Given the description of an element on the screen output the (x, y) to click on. 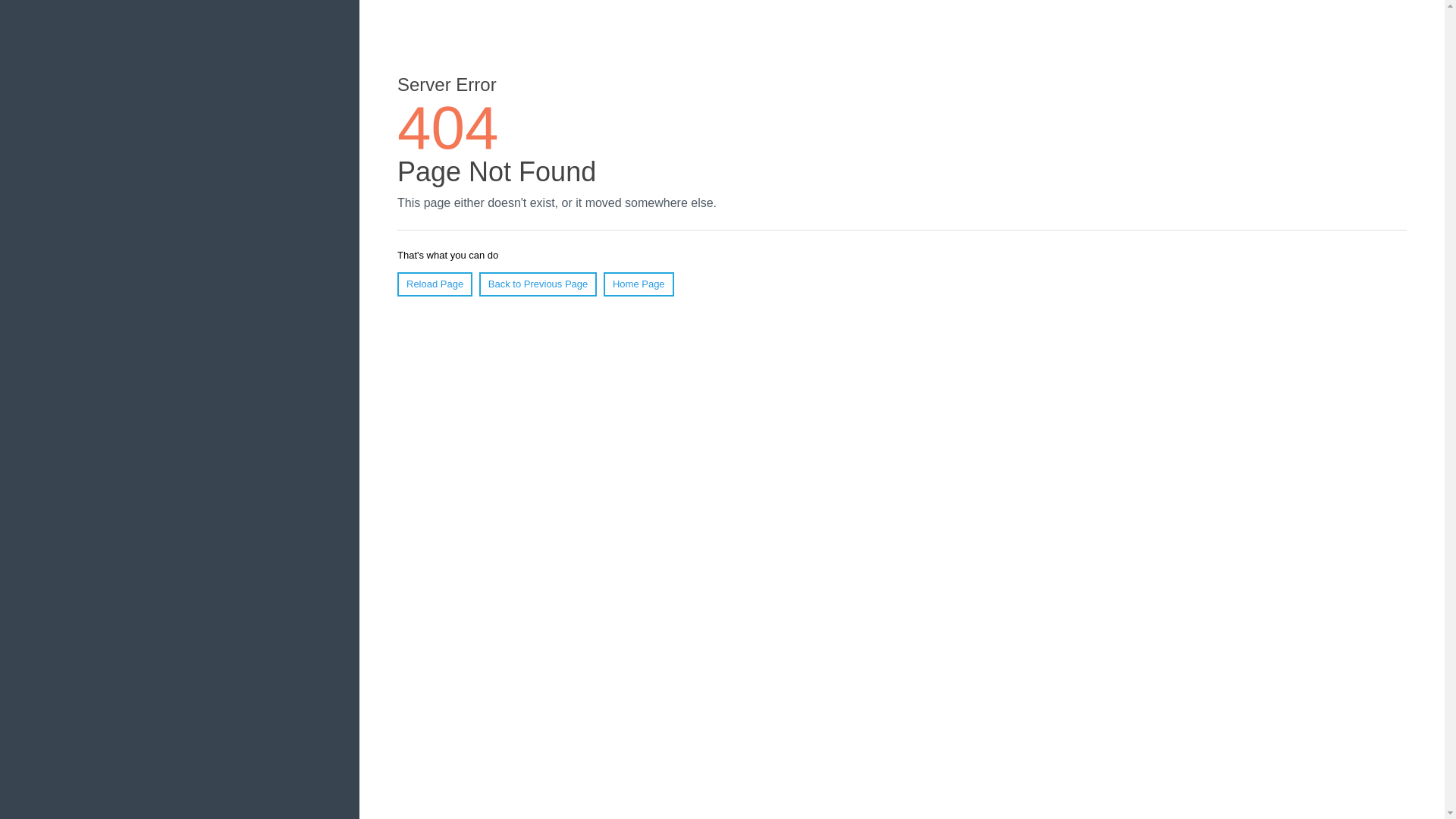
Home Page (639, 283)
Back to Previous Page (537, 283)
Reload Page (434, 283)
